Given the description of an element on the screen output the (x, y) to click on. 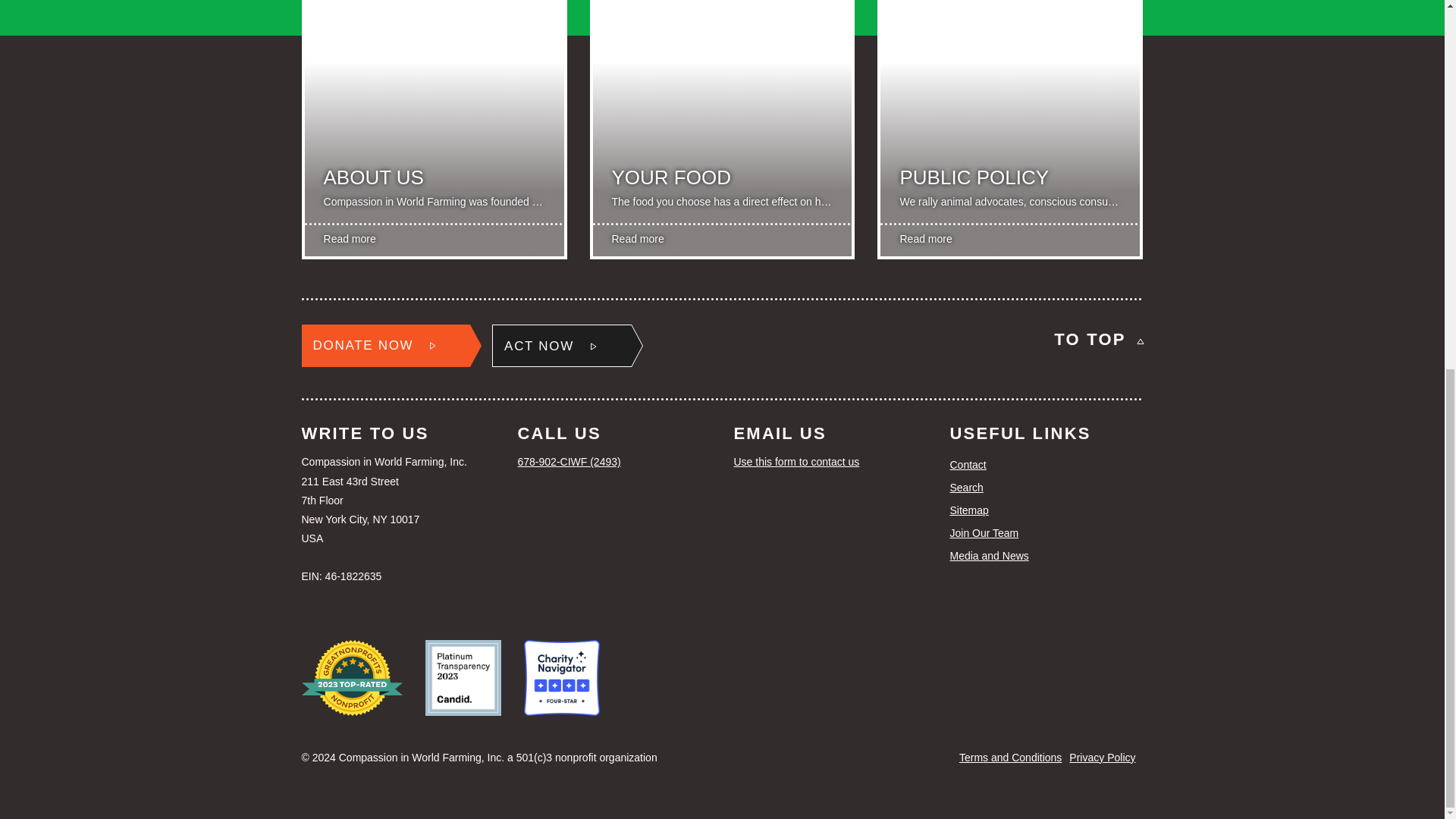
Search (1045, 487)
Terms and Conditions (1010, 757)
Contact (1045, 465)
Join Our Team (1045, 533)
ACT NOW (561, 345)
Use this form to contact us (830, 461)
DONATE NOW (385, 345)
Privacy Policy (1101, 757)
TO TOP (1098, 339)
Media and News (1045, 556)
TO TOP (1098, 339)
Sitemap (1045, 510)
